Given the description of an element on the screen output the (x, y) to click on. 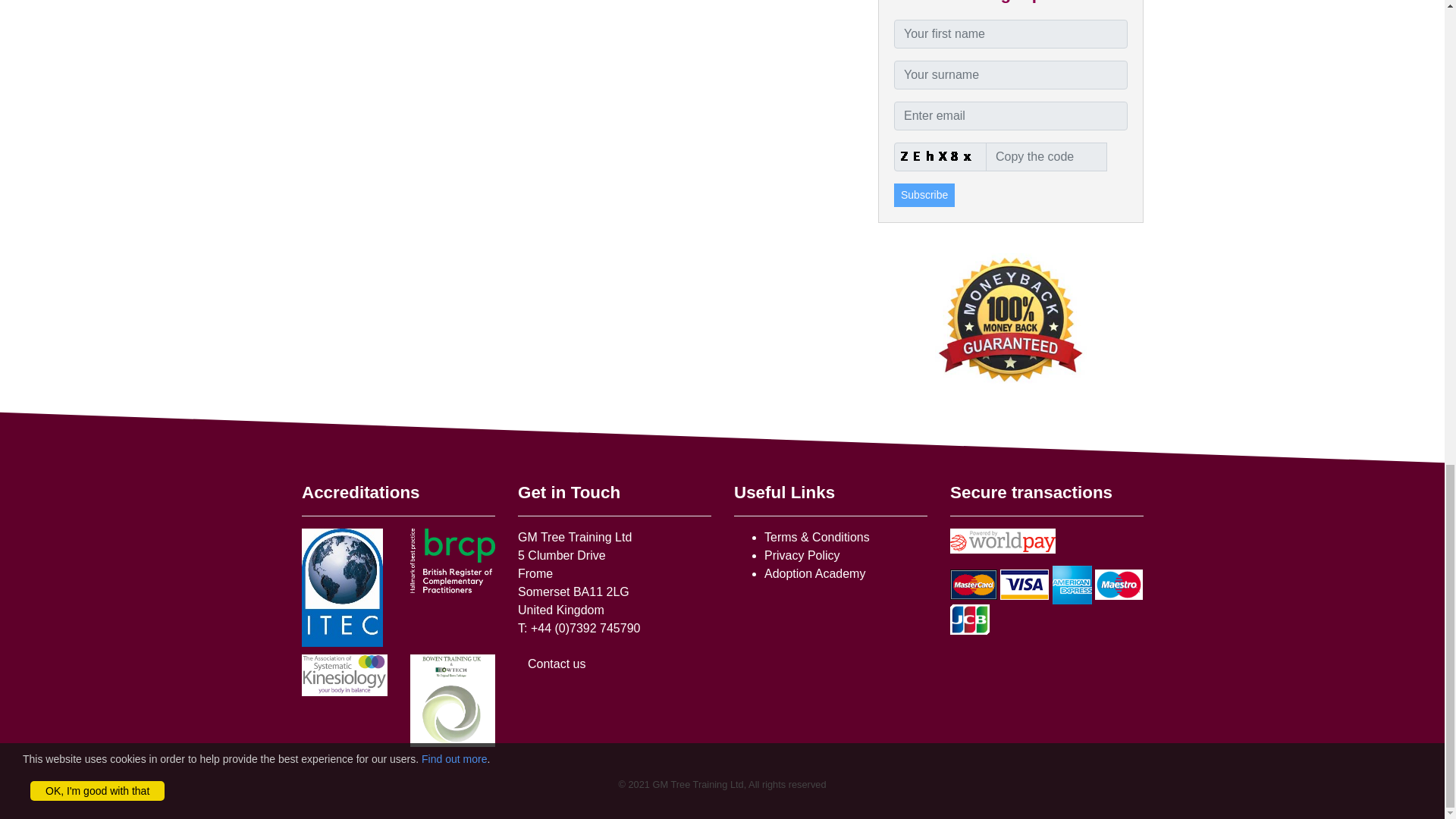
Subscribe (923, 195)
